Given the description of an element on the screen output the (x, y) to click on. 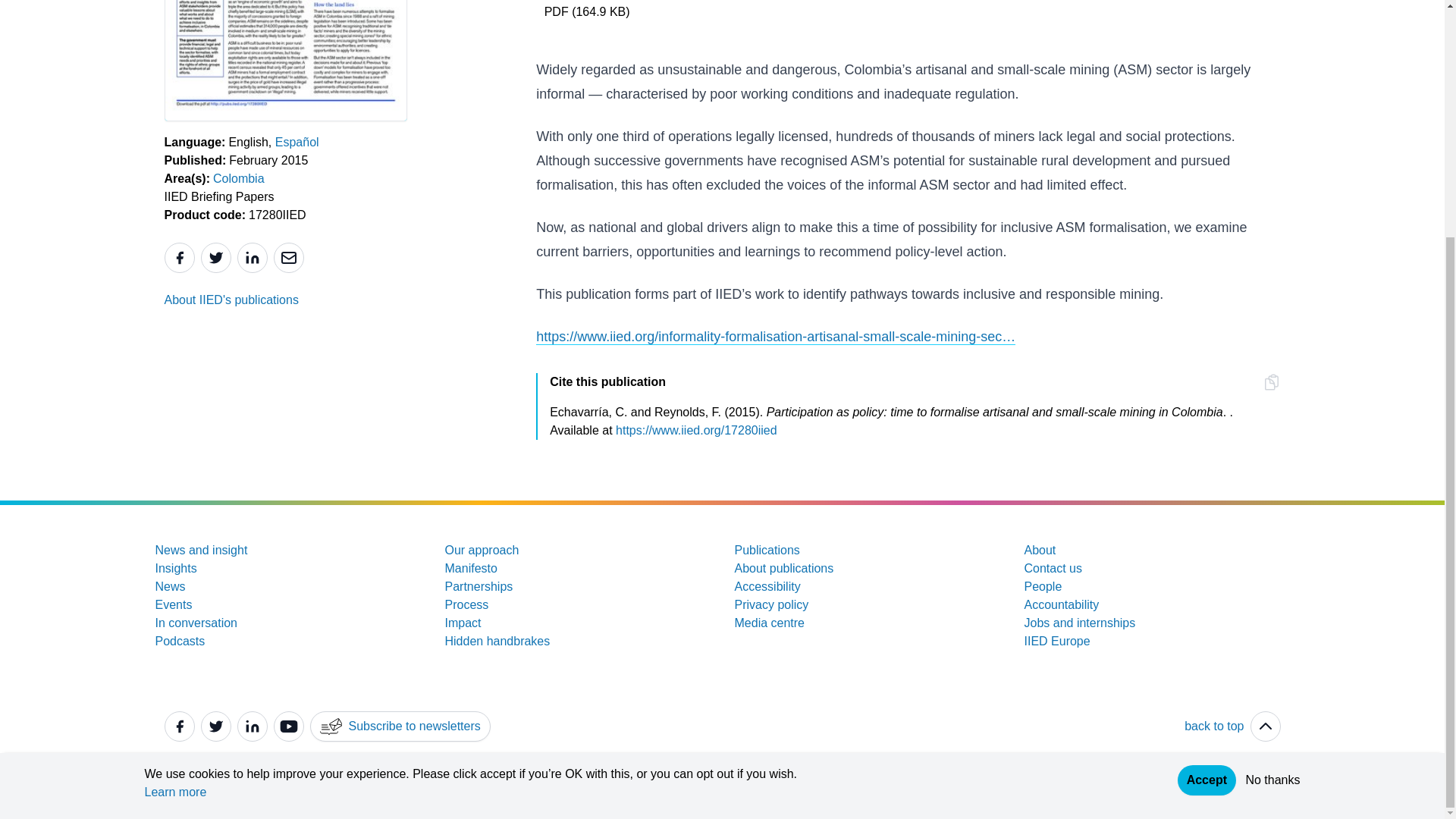
Colombia (238, 178)
